Given the description of an element on the screen output the (x, y) to click on. 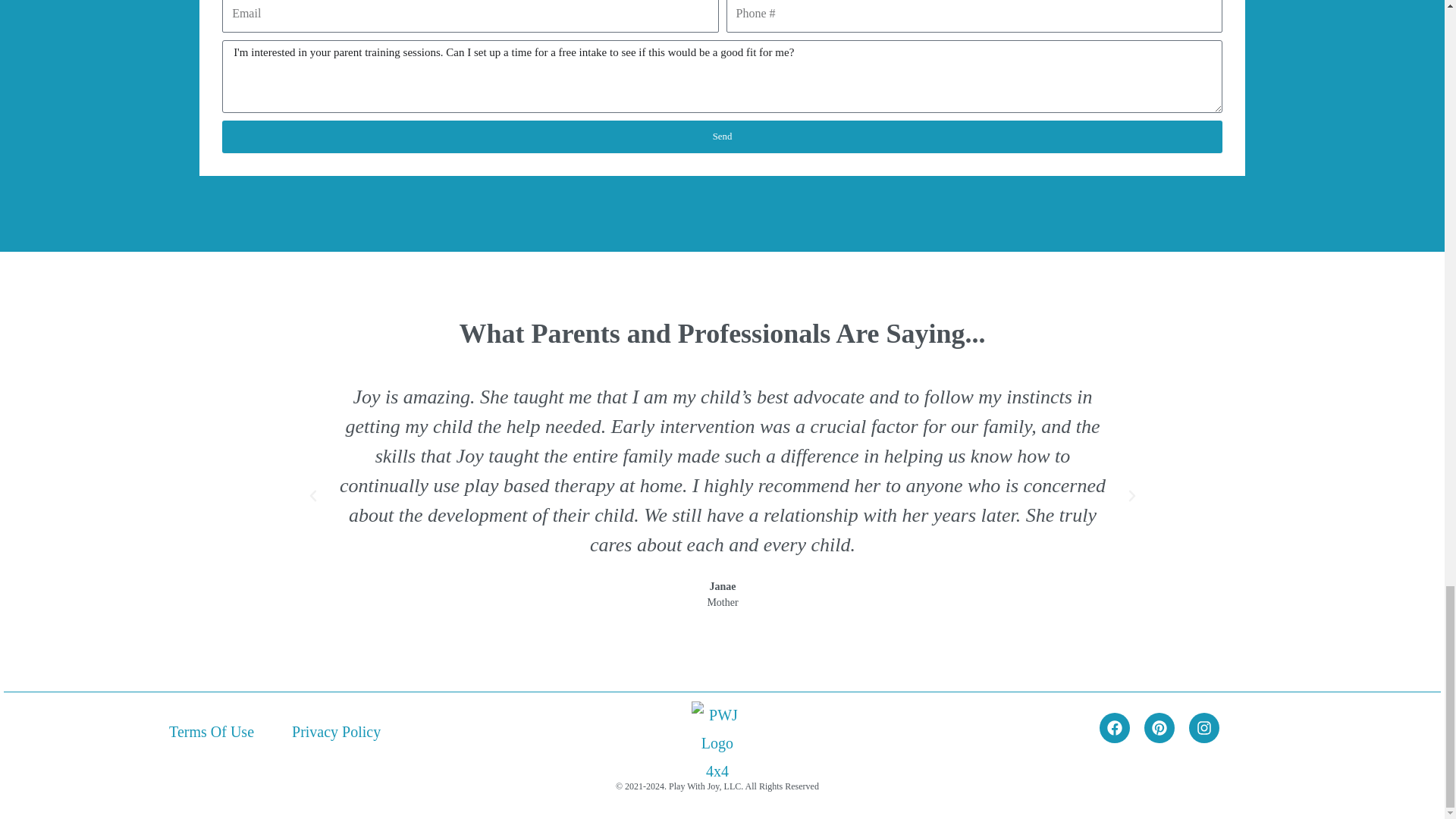
Privacy Policy (336, 731)
Send (722, 136)
Facebook (1114, 727)
Instagram (1204, 727)
Pinterest (1159, 727)
Terms Of Use (210, 731)
